Given the description of an element on the screen output the (x, y) to click on. 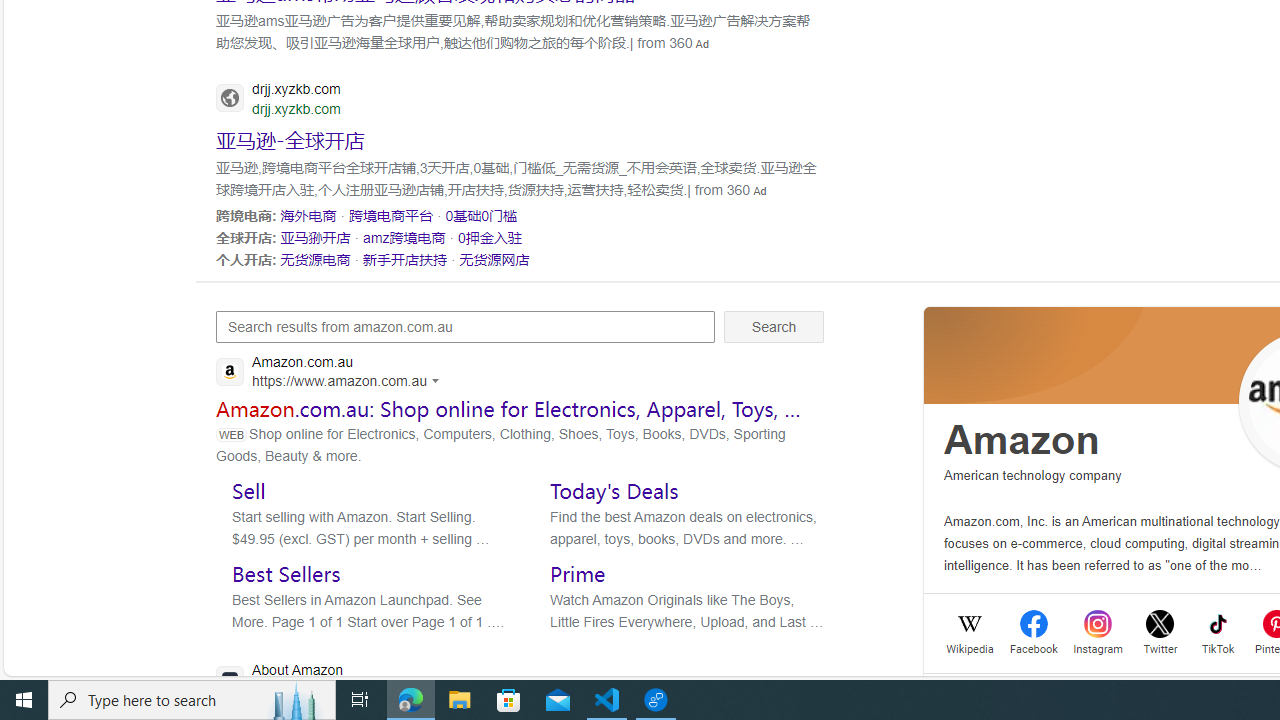
Amazon.com.au (333, 373)
TikTok (1217, 646)
Instagram (1097, 646)
About Amazon (398, 681)
SERP,5570 (404, 237)
Actions for this site (438, 380)
SERP,5573 (405, 259)
SERP,5567 (391, 215)
American technology company (1033, 475)
Search results from amazon.com.au (465, 326)
Twitter (1160, 646)
Best Sellers (285, 573)
